Given the description of an element on the screen output the (x, y) to click on. 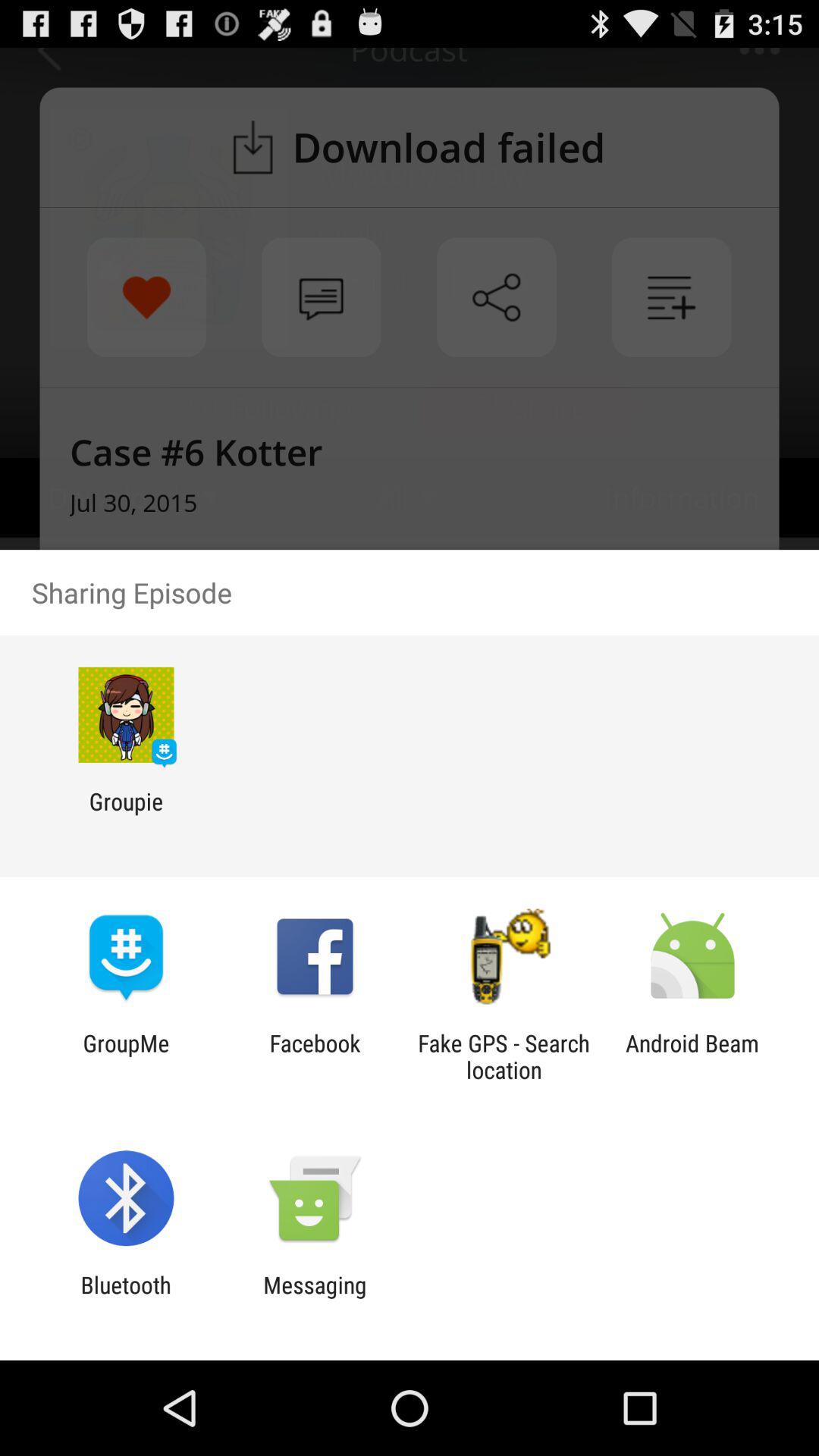
choose icon to the left of fake gps search (314, 1056)
